Given the description of an element on the screen output the (x, y) to click on. 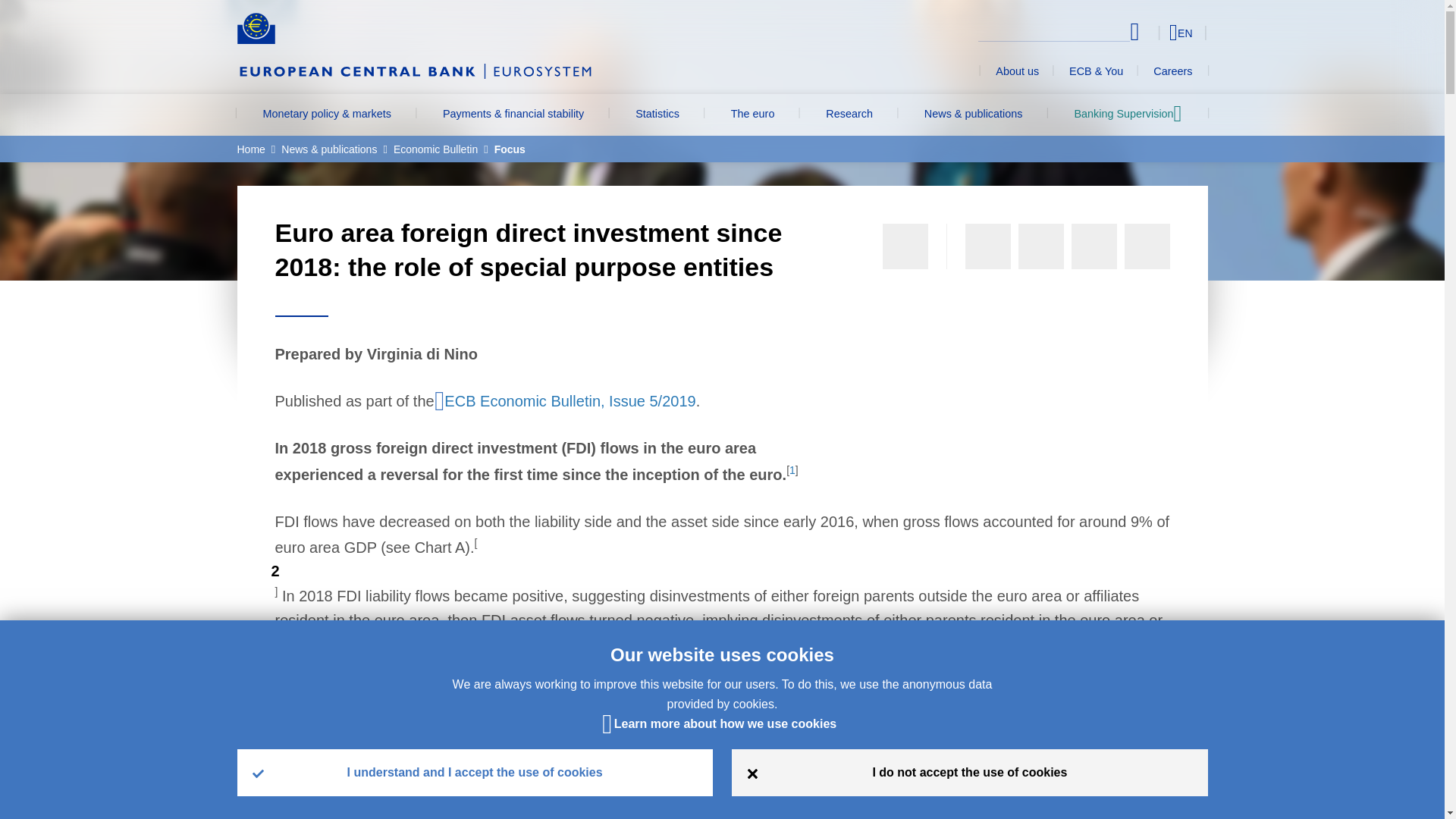
Select language (1153, 32)
